Given the description of an element on the screen output the (x, y) to click on. 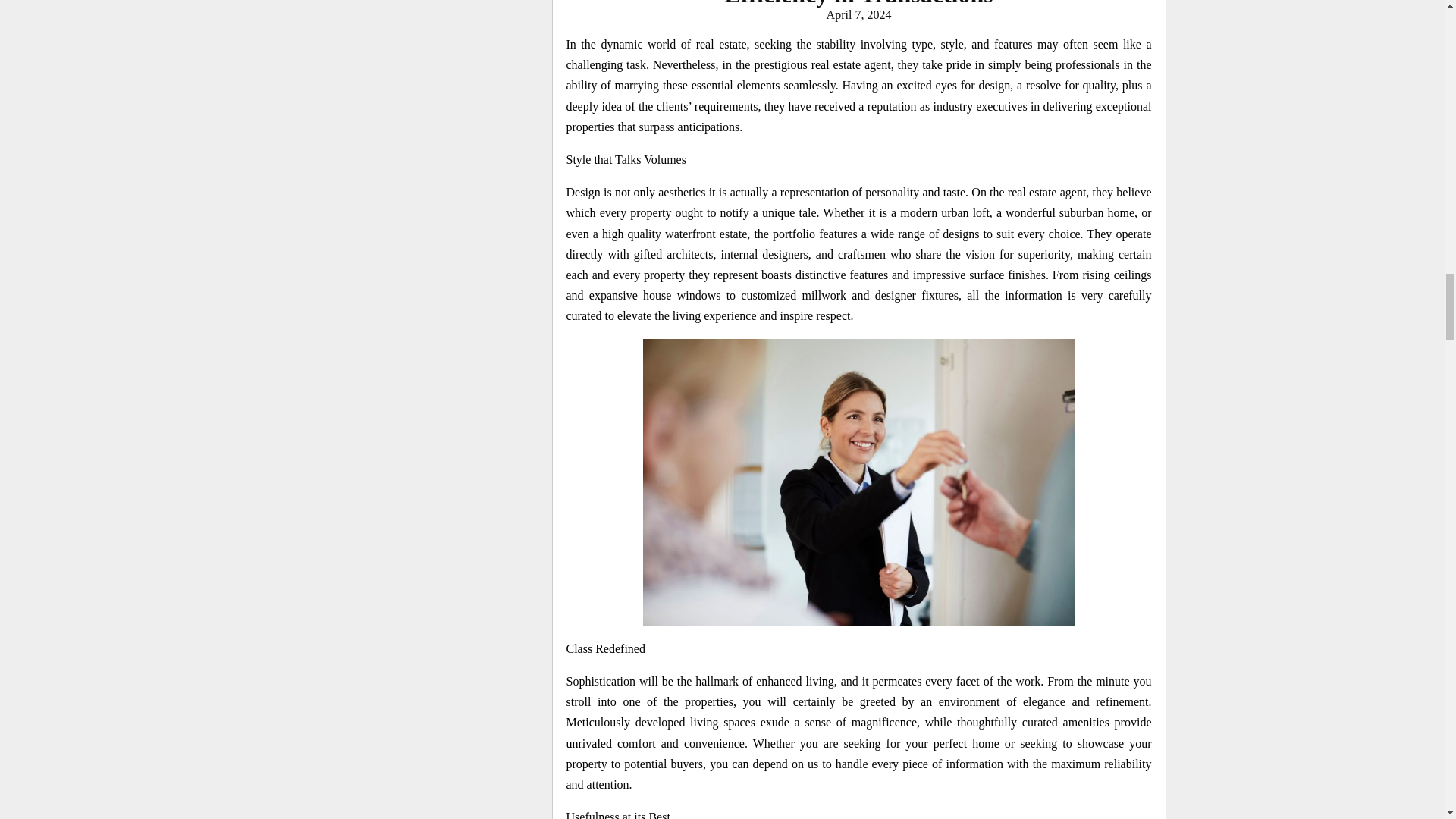
April 7, 2024 (859, 14)
